Given the description of an element on the screen output the (x, y) to click on. 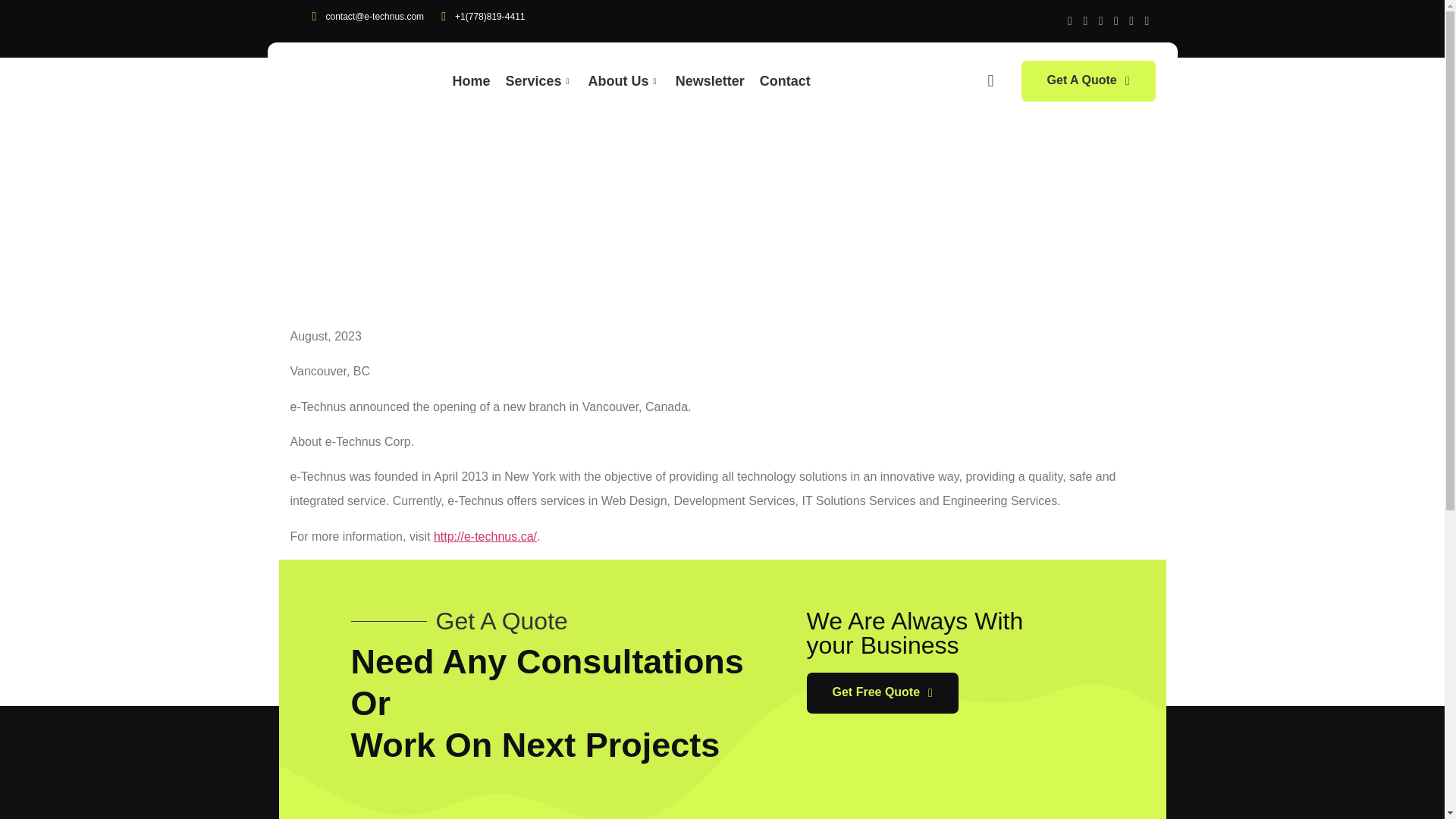
Get A Quote (1089, 80)
Get Free Quote (882, 692)
Home (478, 90)
Services (546, 90)
About Us (631, 90)
Contact (792, 90)
Newsletter (717, 90)
